Given the description of an element on the screen output the (x, y) to click on. 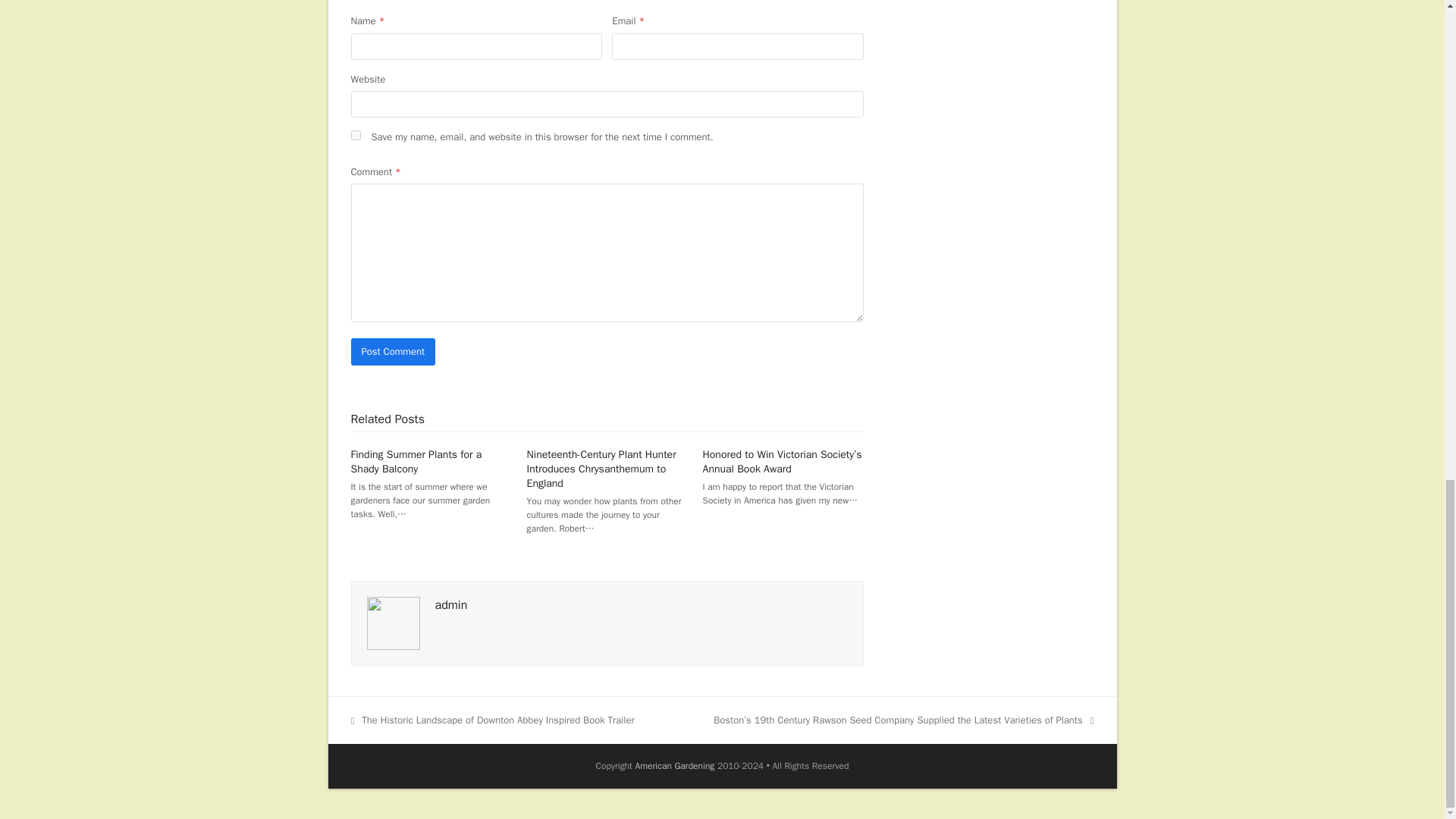
Visit Author Page (393, 622)
yes (354, 135)
admin (451, 604)
Visit Author Page (451, 604)
Post Comment (392, 351)
Finding Summer Plants for a Shady Balcony (415, 461)
Post Comment (392, 351)
American Gardening (674, 766)
